Given the description of an element on the screen output the (x, y) to click on. 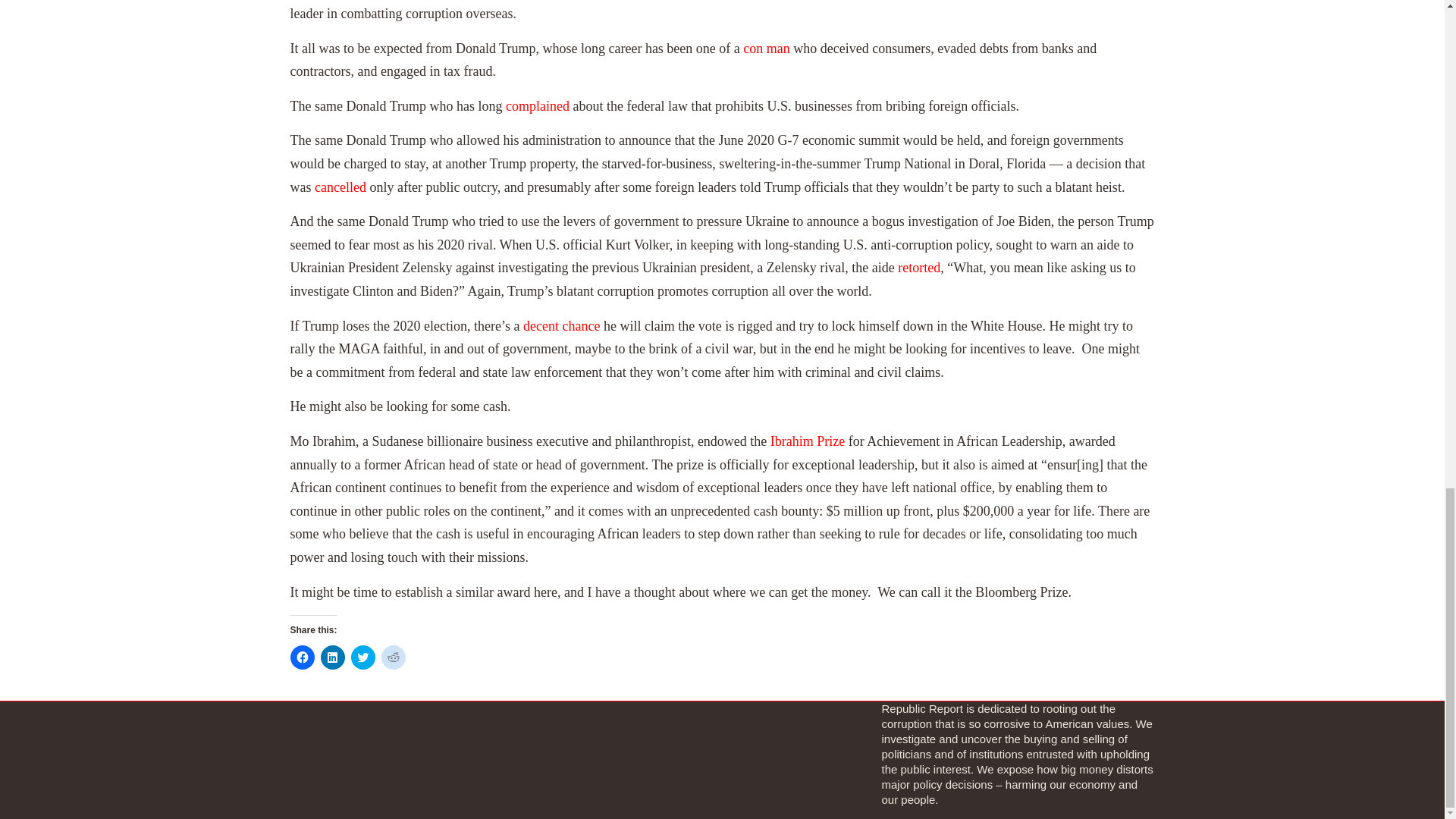
Click to share on Twitter (362, 657)
Ibrahim Prize (807, 441)
Click to share on Reddit (392, 657)
retorted (919, 267)
con man (765, 48)
complained (537, 105)
decent chance (560, 325)
Click to share on LinkedIn (331, 657)
cancelled (340, 186)
Click to share on Facebook (301, 657)
